Given the description of an element on the screen output the (x, y) to click on. 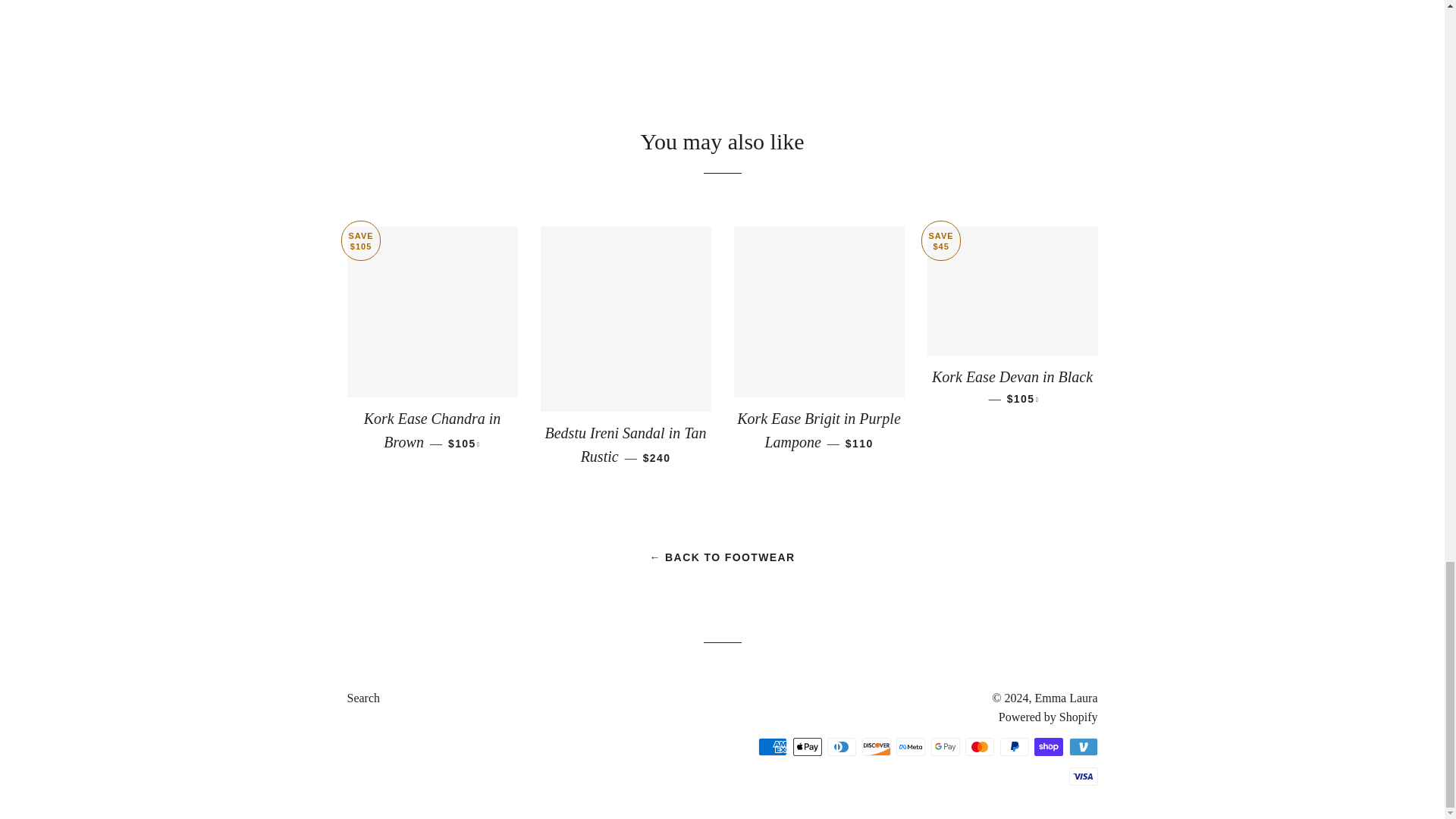
Google Pay (945, 746)
Shop Pay (1047, 746)
Mastercard (979, 746)
Venmo (1082, 746)
PayPal (1012, 746)
Visa (1082, 776)
Discover (875, 746)
Meta Pay (910, 746)
American Express (772, 746)
Diners Club (841, 746)
Apple Pay (807, 746)
